Given the description of an element on the screen output the (x, y) to click on. 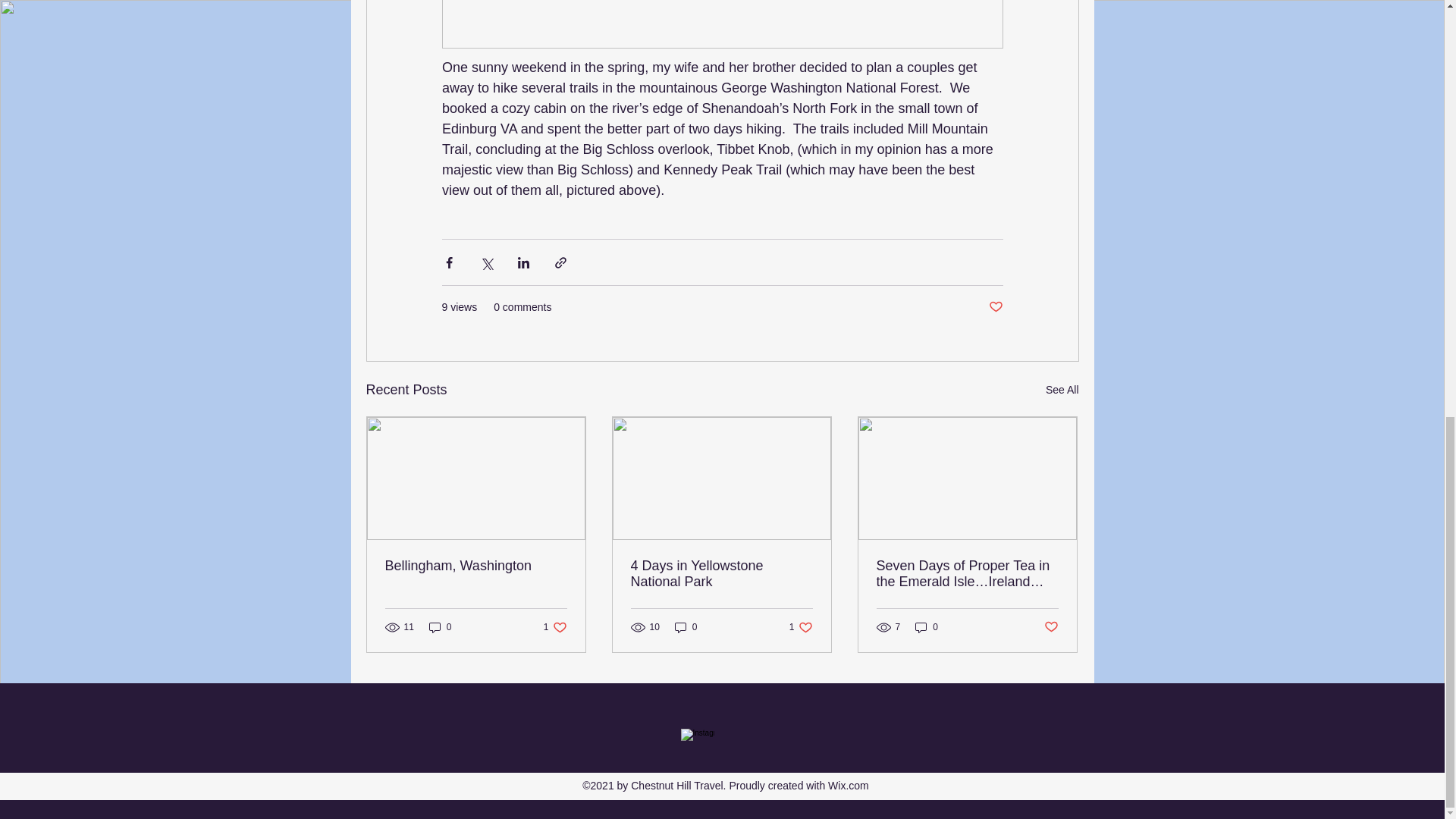
0 (800, 626)
See All (440, 626)
0 (1061, 390)
0 (926, 626)
Post not marked as liked (685, 626)
Post not marked as liked (1050, 627)
Bellingham, Washington (995, 307)
4 Days in Yellowstone National Park (476, 565)
